Given the description of an element on the screen output the (x, y) to click on. 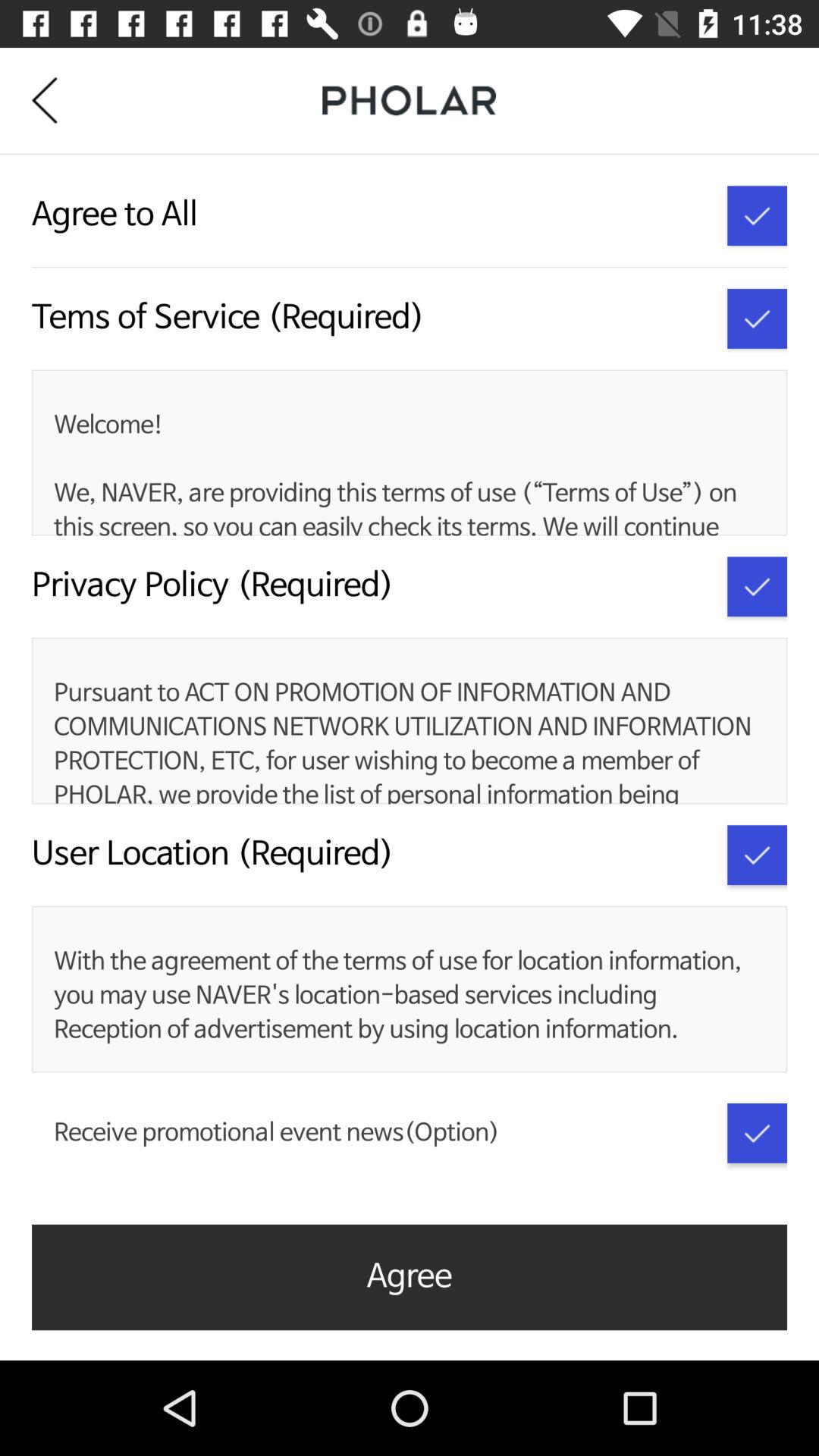
agree to terms of service (757, 318)
